Given the description of an element on the screen output the (x, y) to click on. 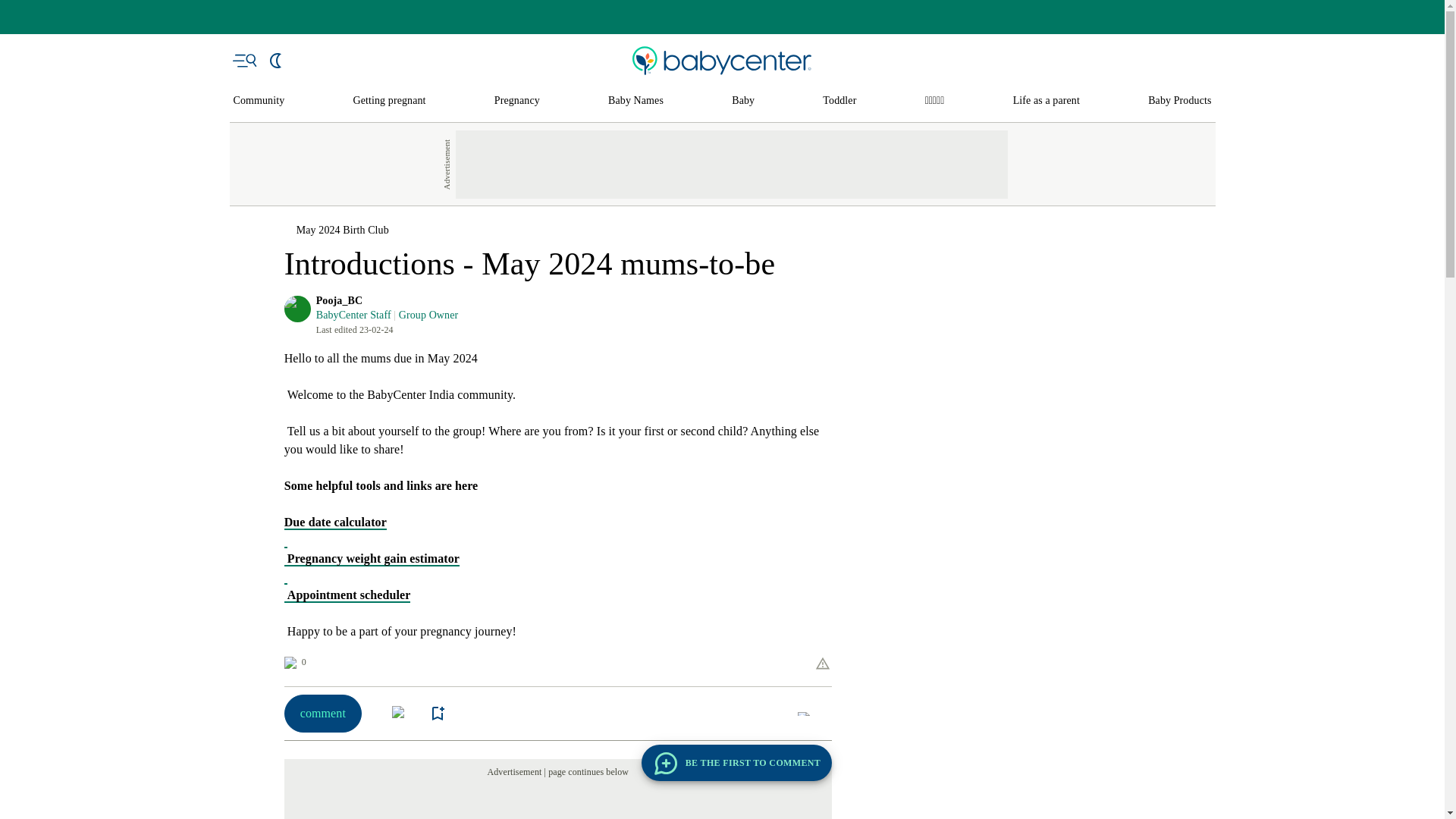
Baby Products (1179, 101)
Pregnancy (517, 101)
Baby (743, 101)
Baby Names (635, 101)
Toddler (839, 101)
Getting pregnant (389, 101)
Life as a parent (1046, 101)
Community (258, 101)
